Given the description of an element on the screen output the (x, y) to click on. 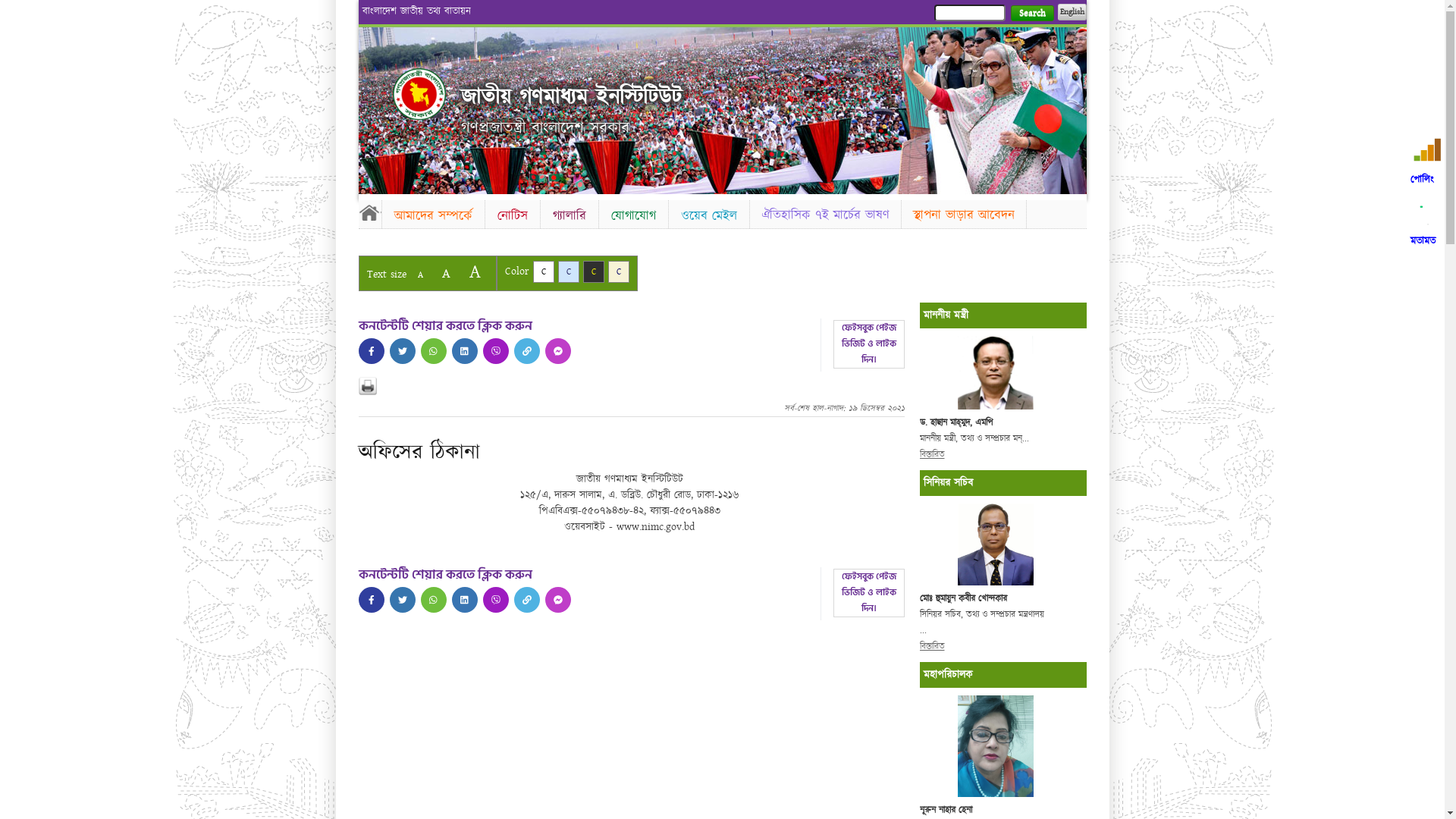
C Element type: text (592, 271)
Search Element type: text (1031, 13)
C Element type: text (568, 271)
Home Element type: hover (418, 93)
Home Element type: hover (368, 211)
English Element type: text (1071, 11)
C Element type: text (618, 271)
C Element type: text (542, 271)
A Element type: text (445, 273)
A Element type: text (419, 274)
A Element type: text (474, 271)
